Given the description of an element on the screen output the (x, y) to click on. 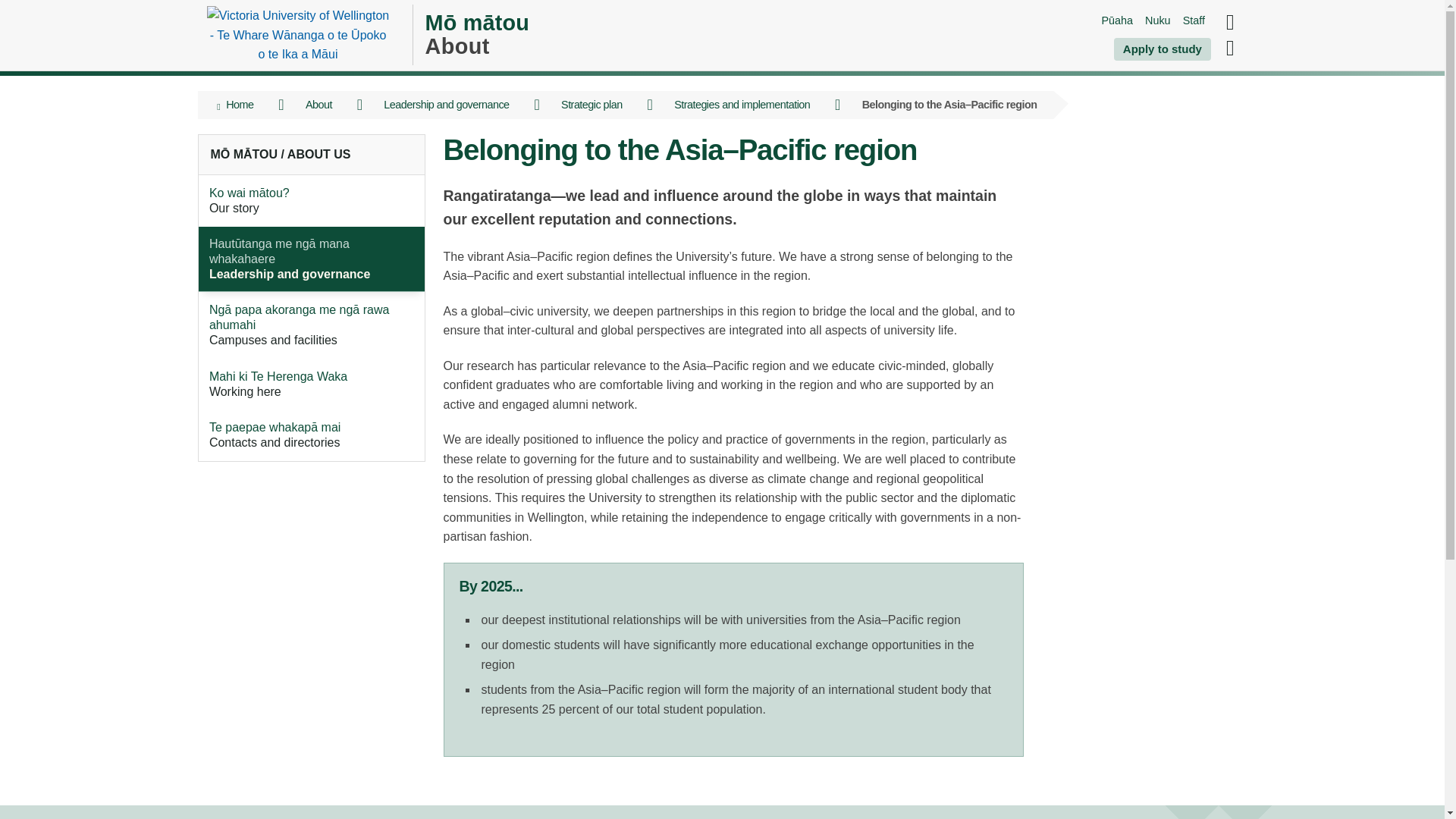
Apply to study (1162, 48)
Staff (1193, 20)
Victoria University of Wellington homepage (297, 34)
Open Staff intranet - Ipurangiroto in a new tab (1193, 20)
Apply to study (1162, 48)
Nuku (1157, 20)
